Given the description of an element on the screen output the (x, y) to click on. 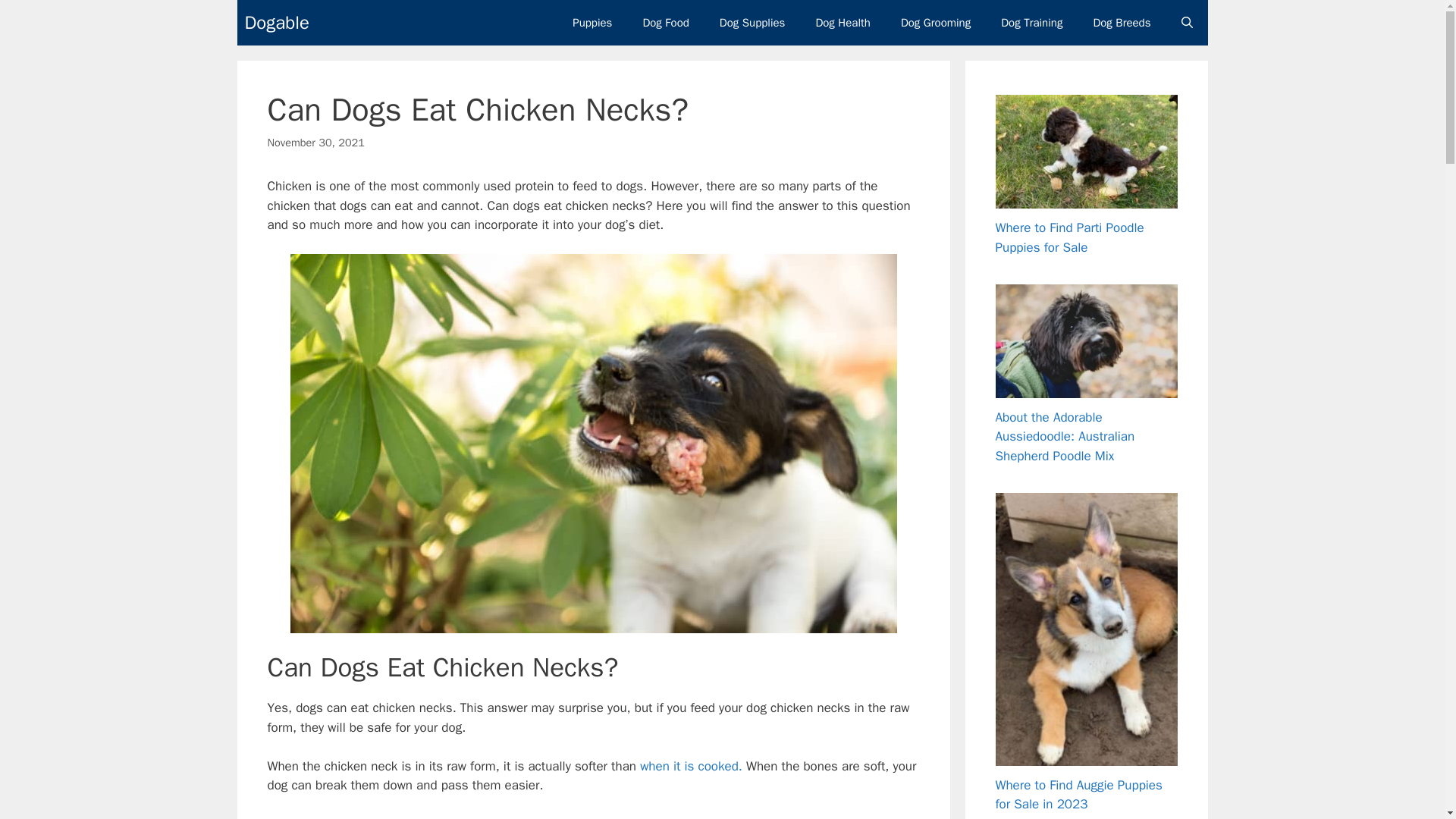
Dogable (276, 22)
Dog Breeds (1121, 22)
Search (35, 18)
Dog Training (1031, 22)
when it is cooked. (691, 765)
Dog Grooming (935, 22)
Dog Food (665, 22)
Puppies (592, 22)
Dog Supplies (752, 22)
